Given the description of an element on the screen output the (x, y) to click on. 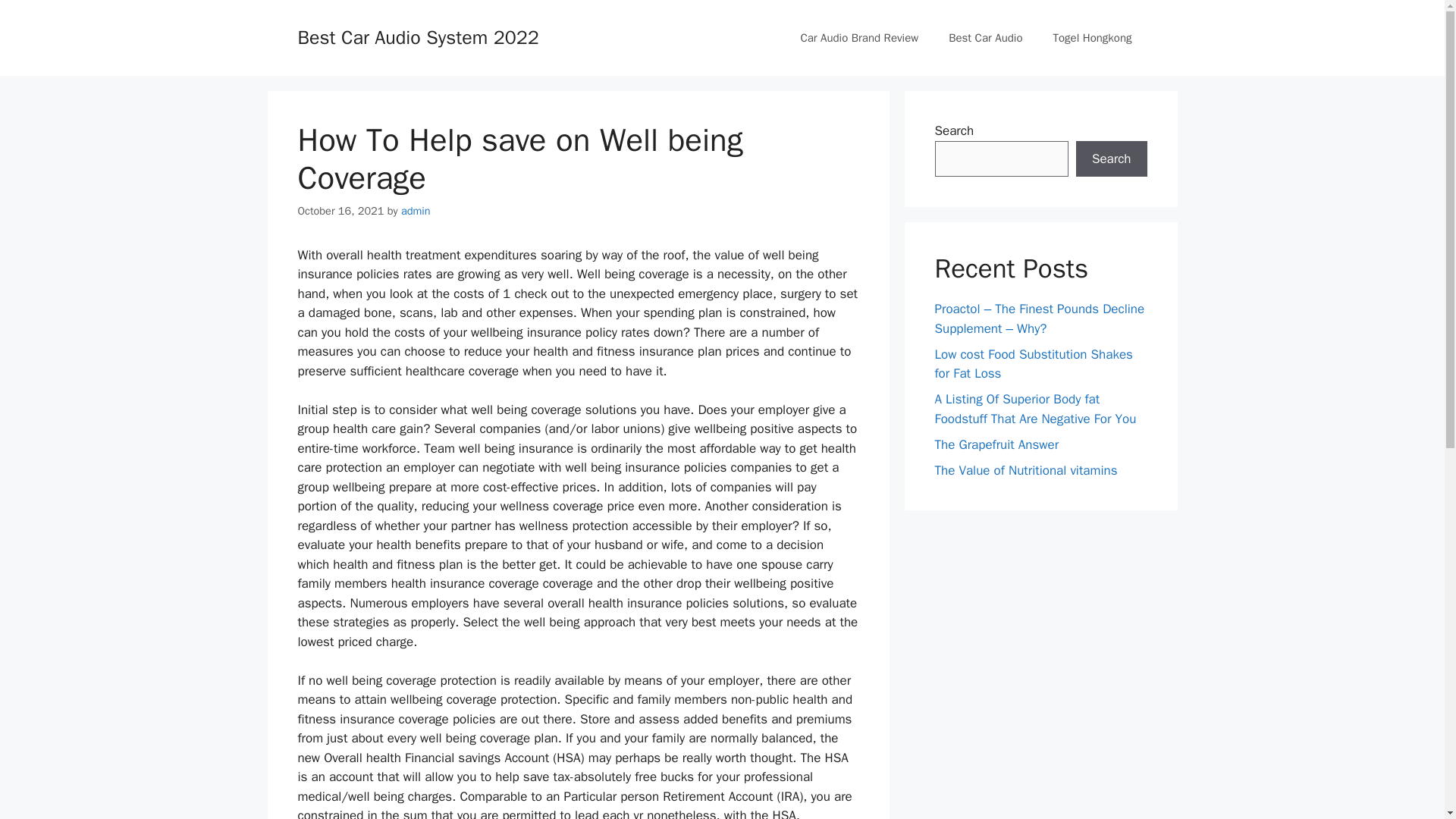
Low cost Food Substitution Shakes for Fat Loss (1033, 363)
Best Car Audio System 2022 (417, 37)
The Grapefruit Answer (996, 444)
Best Car Audio (984, 37)
Search (1111, 158)
View all posts by admin (415, 210)
The Value of Nutritional vitamins (1025, 470)
Togel Hongkong (1091, 37)
Car Audio Brand Review (858, 37)
admin (415, 210)
